Given the description of an element on the screen output the (x, y) to click on. 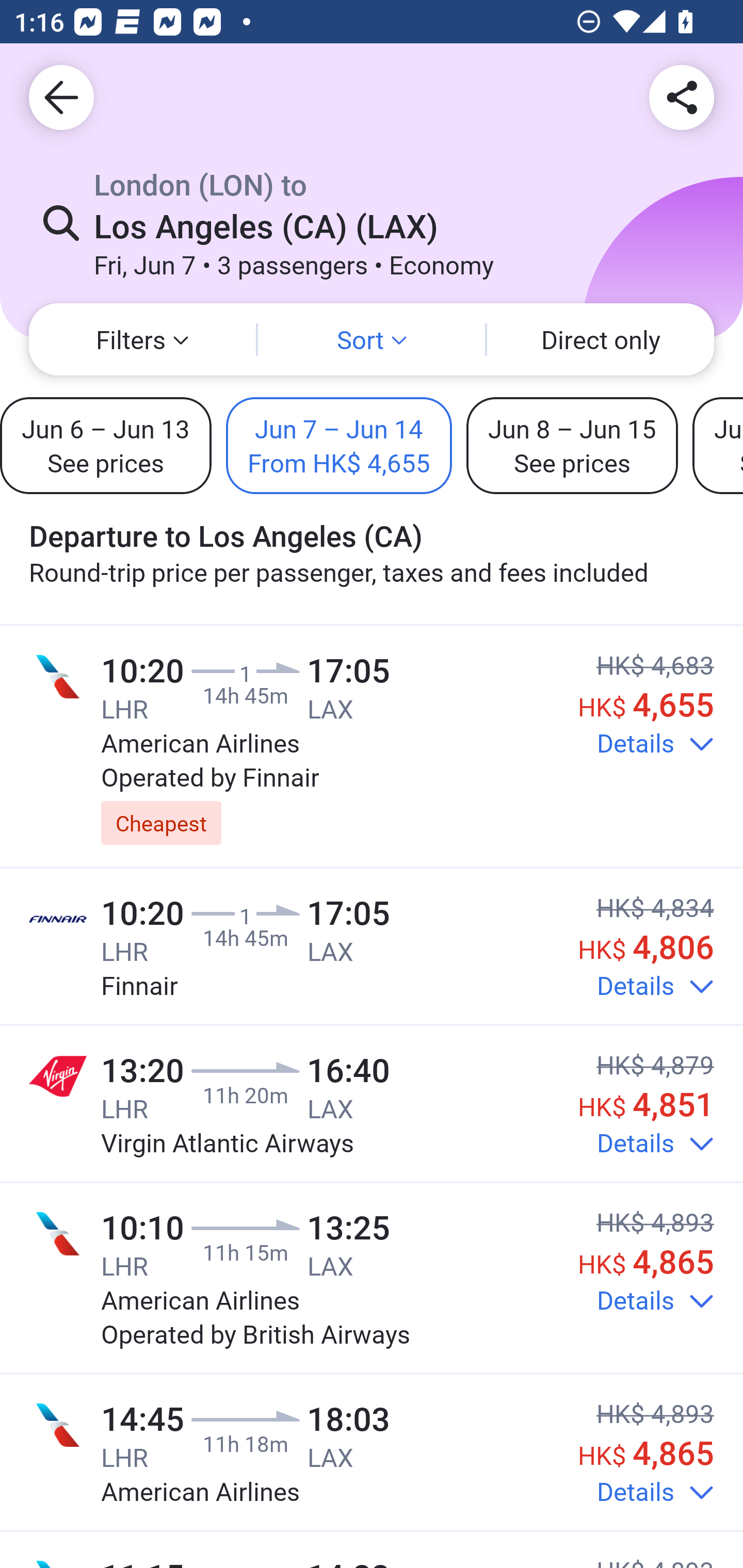
Filters (141, 339)
Sort (371, 339)
Direct only (600, 339)
Jun 6 – Jun 13 See prices (105, 444)
Jun 7 – Jun 14 From HK$ 4,655 (338, 444)
Jun 8 – Jun 15 See prices (571, 444)
